Given the description of an element on the screen output the (x, y) to click on. 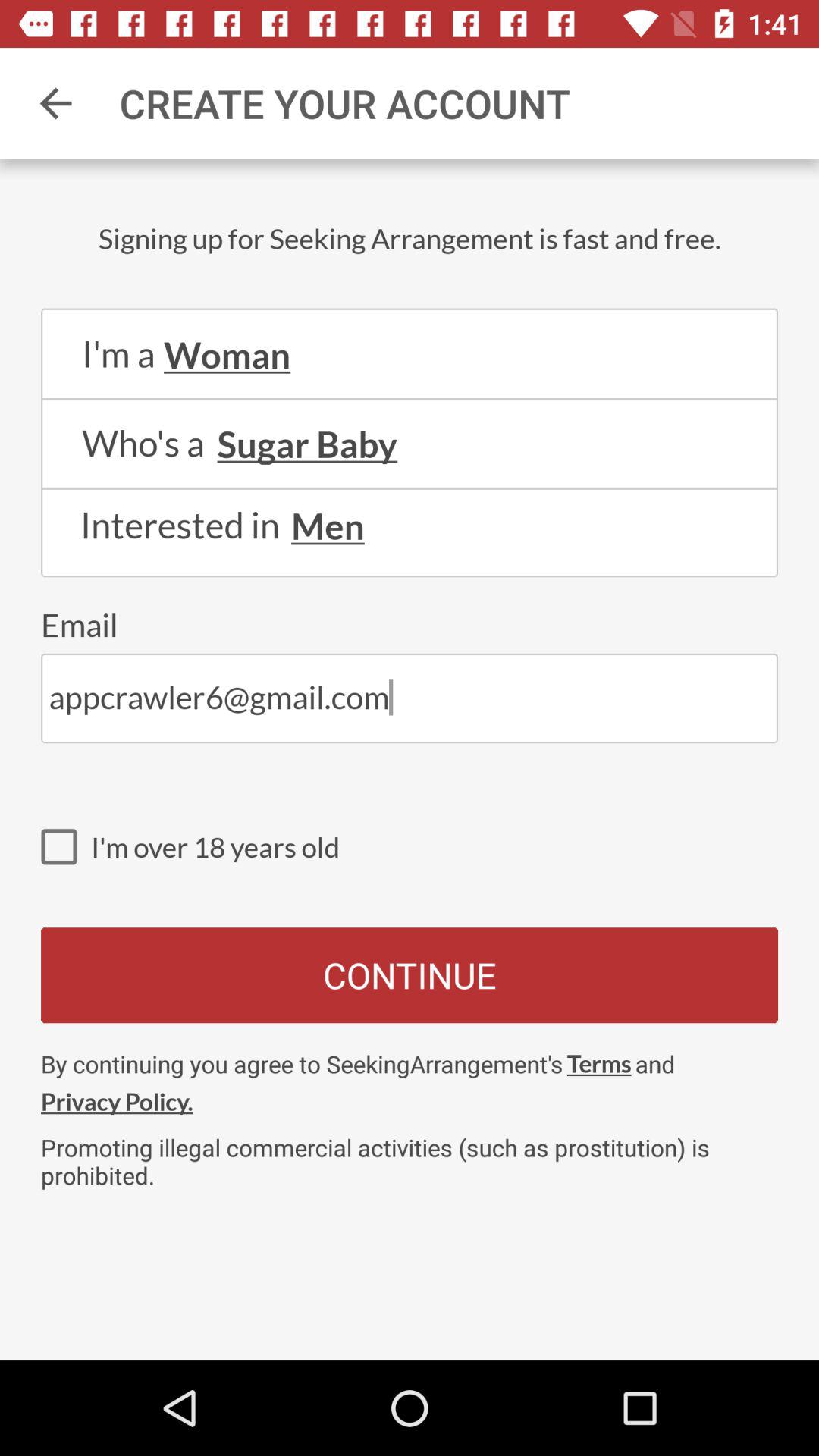
click the icon to the left of the create your account app (55, 103)
